Given the description of an element on the screen output the (x, y) to click on. 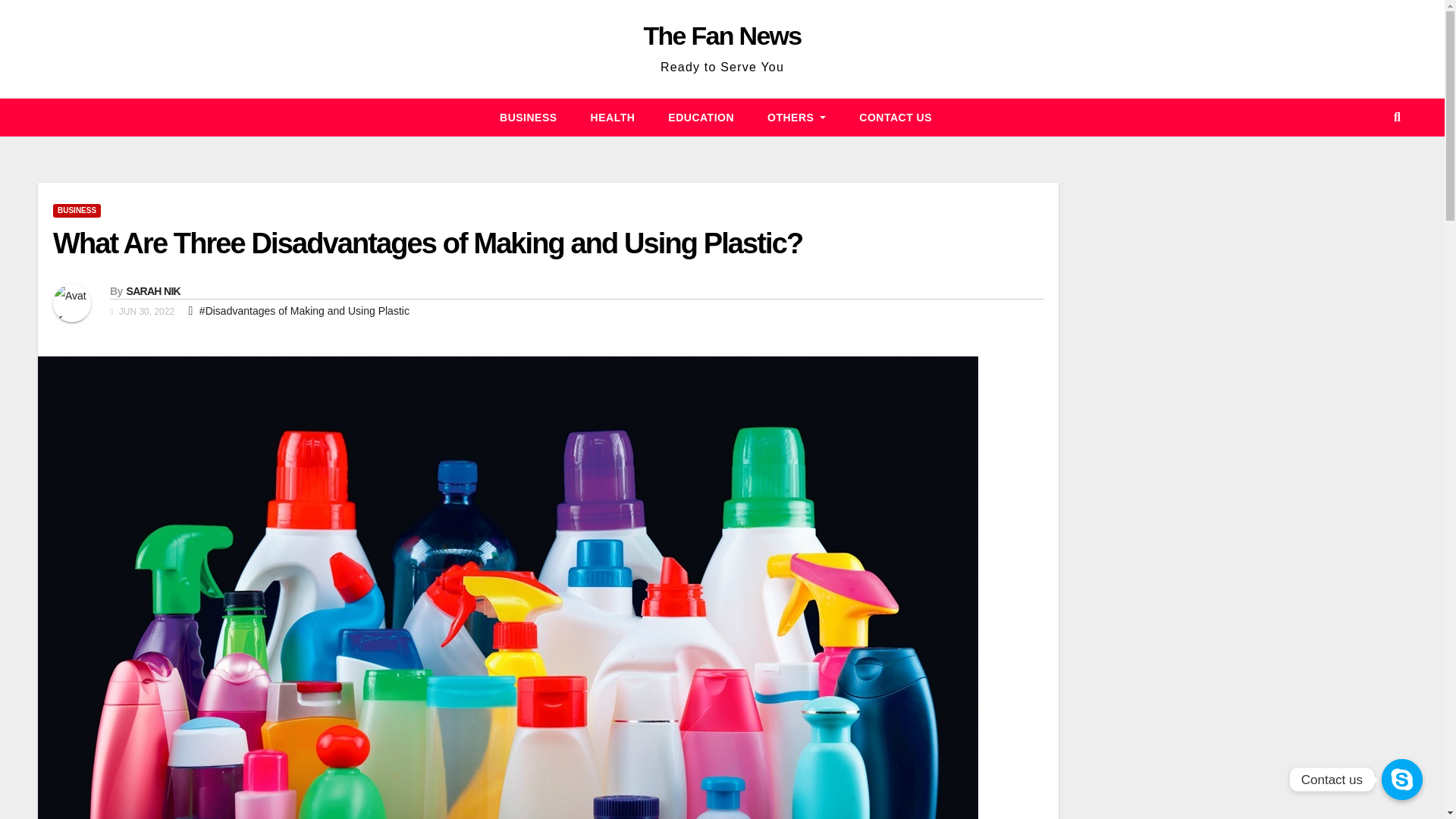
BUSINESS (528, 117)
Others (797, 117)
The Fan News (721, 35)
CONTACT US (896, 117)
What Are Three Disadvantages of Making and Using Plastic? (427, 243)
Contact Us (896, 117)
BUSINESS (76, 210)
HEALTH (612, 117)
Business (528, 117)
Education (700, 117)
EDUCATION (700, 117)
SARAH NIK (152, 291)
Health (612, 117)
OTHERS (797, 117)
